Given the description of an element on the screen output the (x, y) to click on. 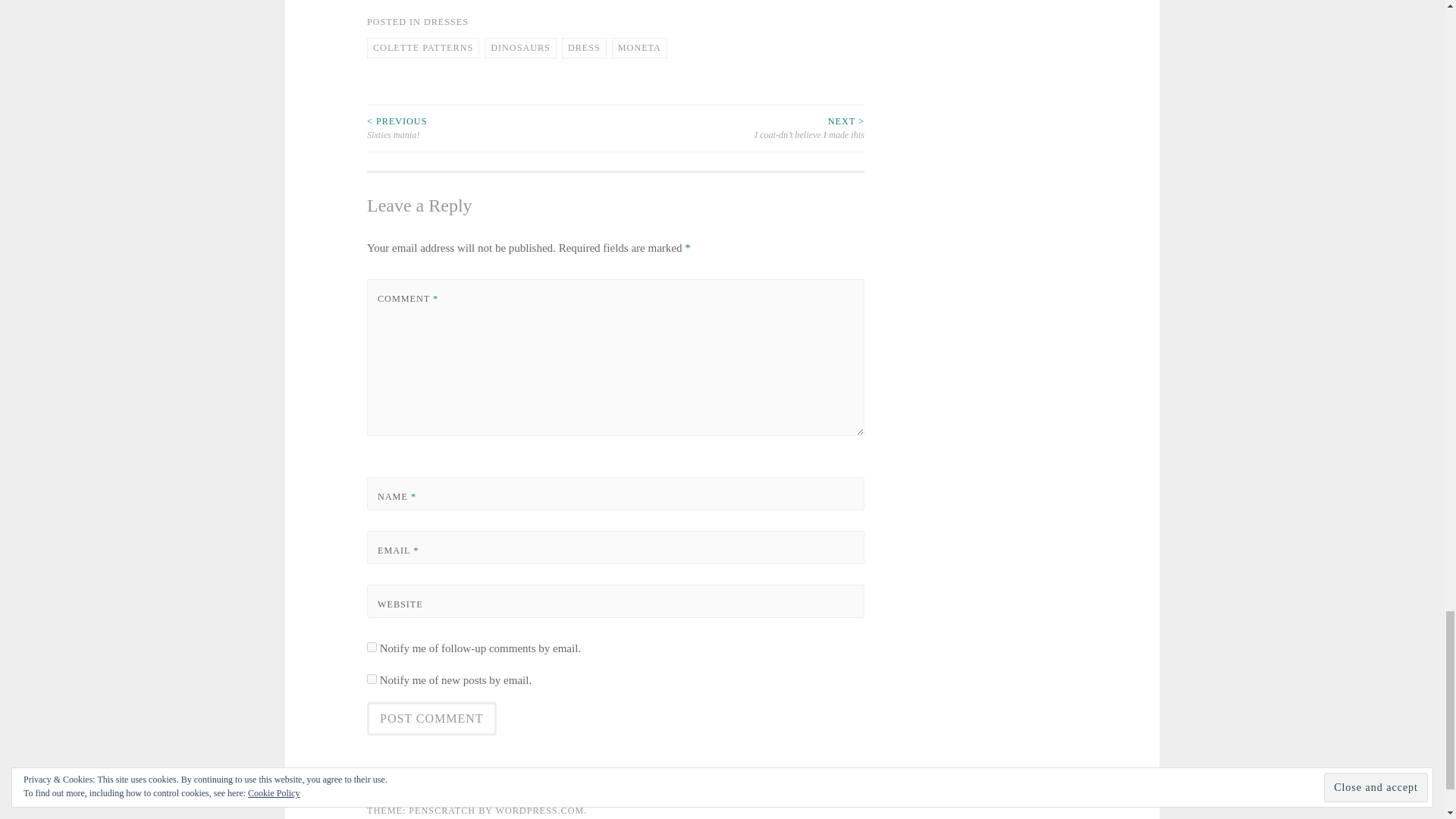
MONETA (638, 47)
DRESSES (445, 21)
COLETTE PATTERNS (422, 47)
Post Comment (431, 718)
DRESS (584, 47)
subscribe (371, 678)
Post Comment (431, 718)
DINOSAURS (520, 47)
subscribe (371, 646)
